Given the description of an element on the screen output the (x, y) to click on. 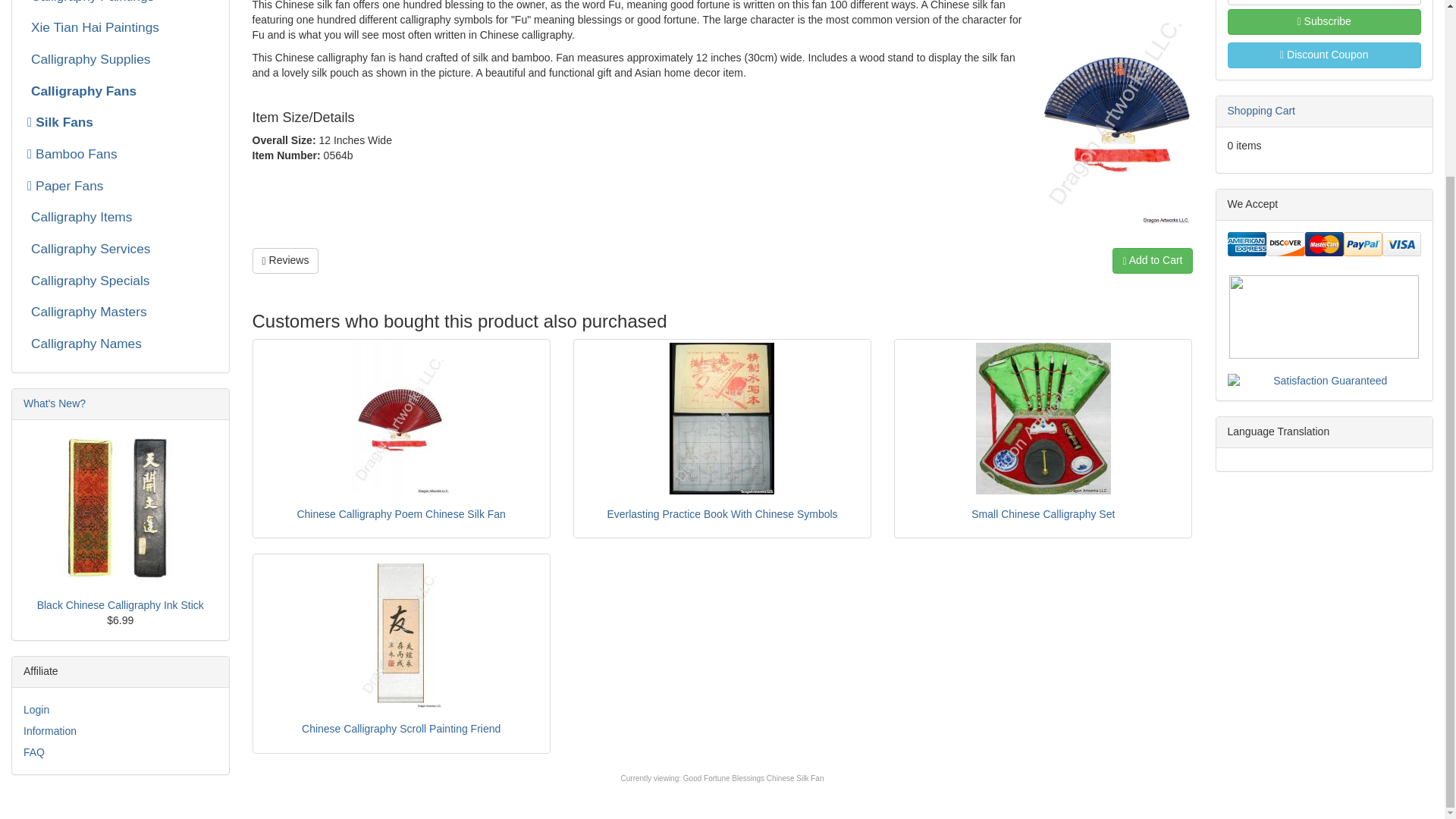
Chinese Calligraphy Scroll Painting Friend (400, 633)
Good Fortune Blessings Chinese Silk Fan (753, 777)
Chinese Calligraphy Poem Chinese Silk Fan (400, 418)
Everlasting Practice Book With Chinese Symbols (721, 418)
Black Chinese Calligraphy Ink Stick (120, 507)
Small Chinese Calligraphy Set (1043, 418)
